Given the description of an element on the screen output the (x, y) to click on. 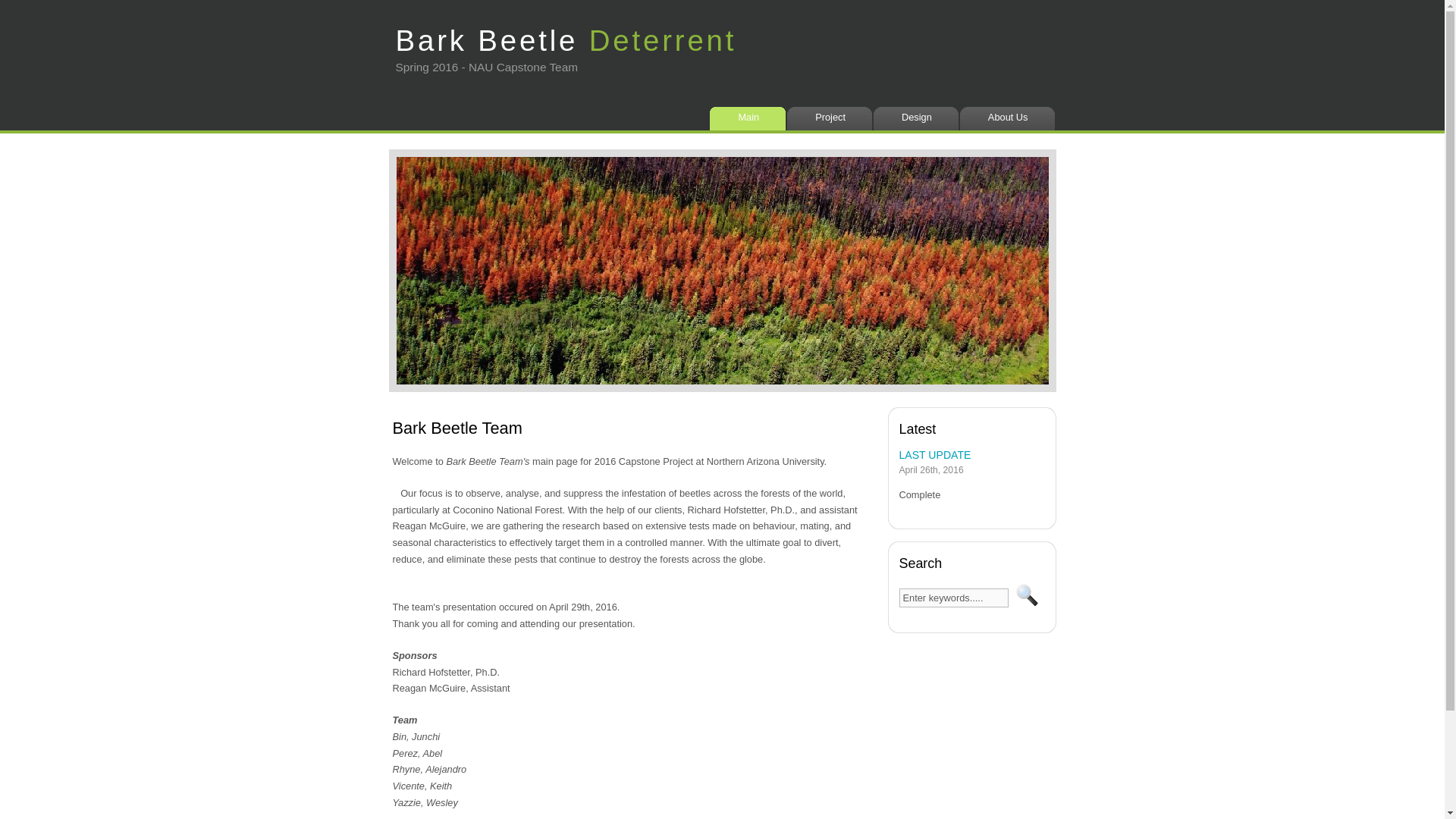
Search (1026, 595)
Project (832, 118)
Enter keywords..... (954, 597)
Enter keywords..... (954, 597)
Main (751, 118)
Design (919, 118)
Bark Beetle Deterrent (566, 31)
About Us (1010, 118)
